Given the description of an element on the screen output the (x, y) to click on. 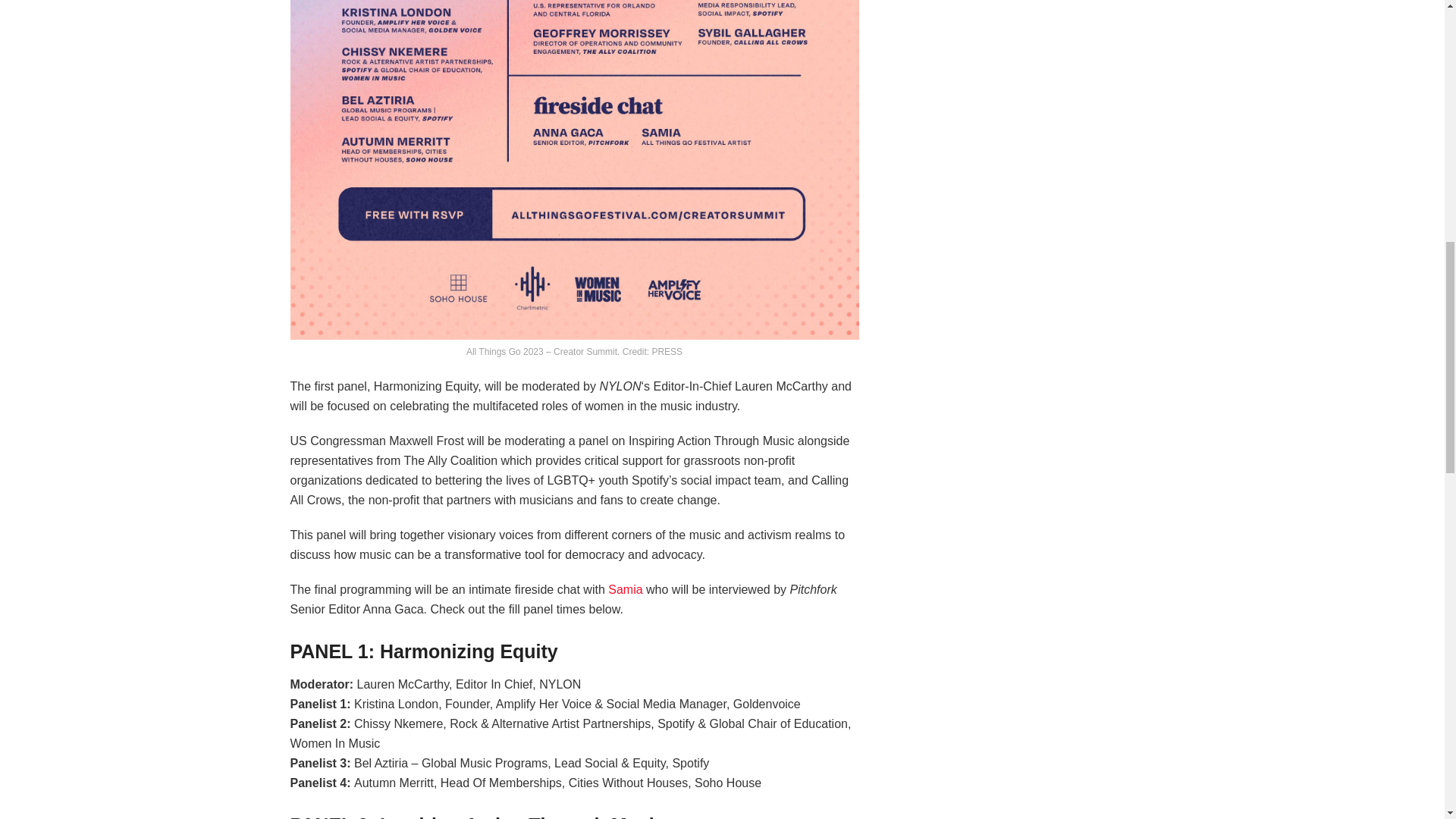
Samia (625, 589)
